Given the description of an element on the screen output the (x, y) to click on. 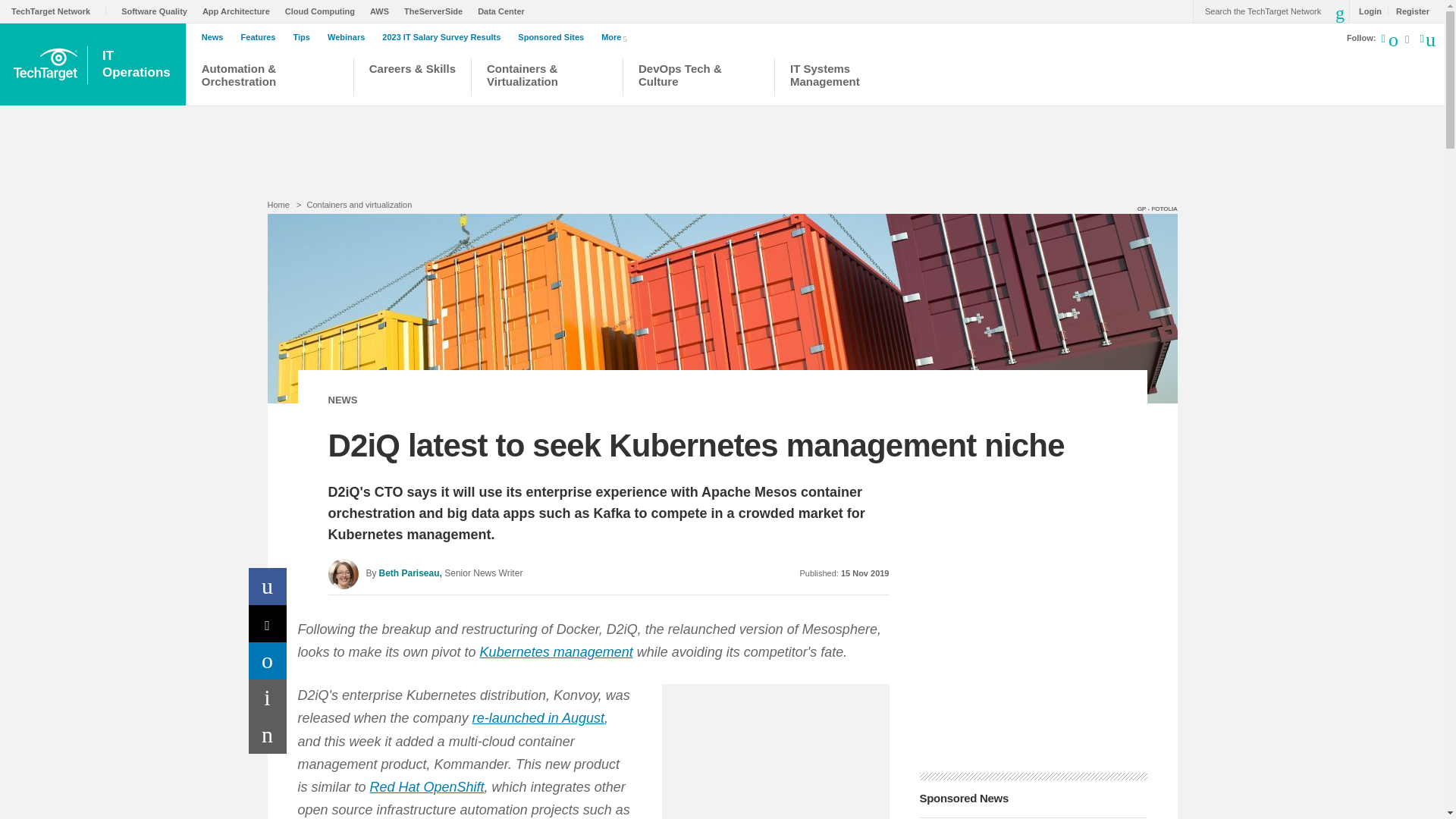
Sponsored Sites (554, 36)
Software Quality (157, 10)
2023 IT Salary Survey Results (444, 36)
Data Center (504, 10)
Login (1366, 10)
Features (262, 36)
Share on X (267, 623)
App Architecture (240, 10)
Cloud Computing (323, 10)
More (617, 36)
